Given the description of an element on the screen output the (x, y) to click on. 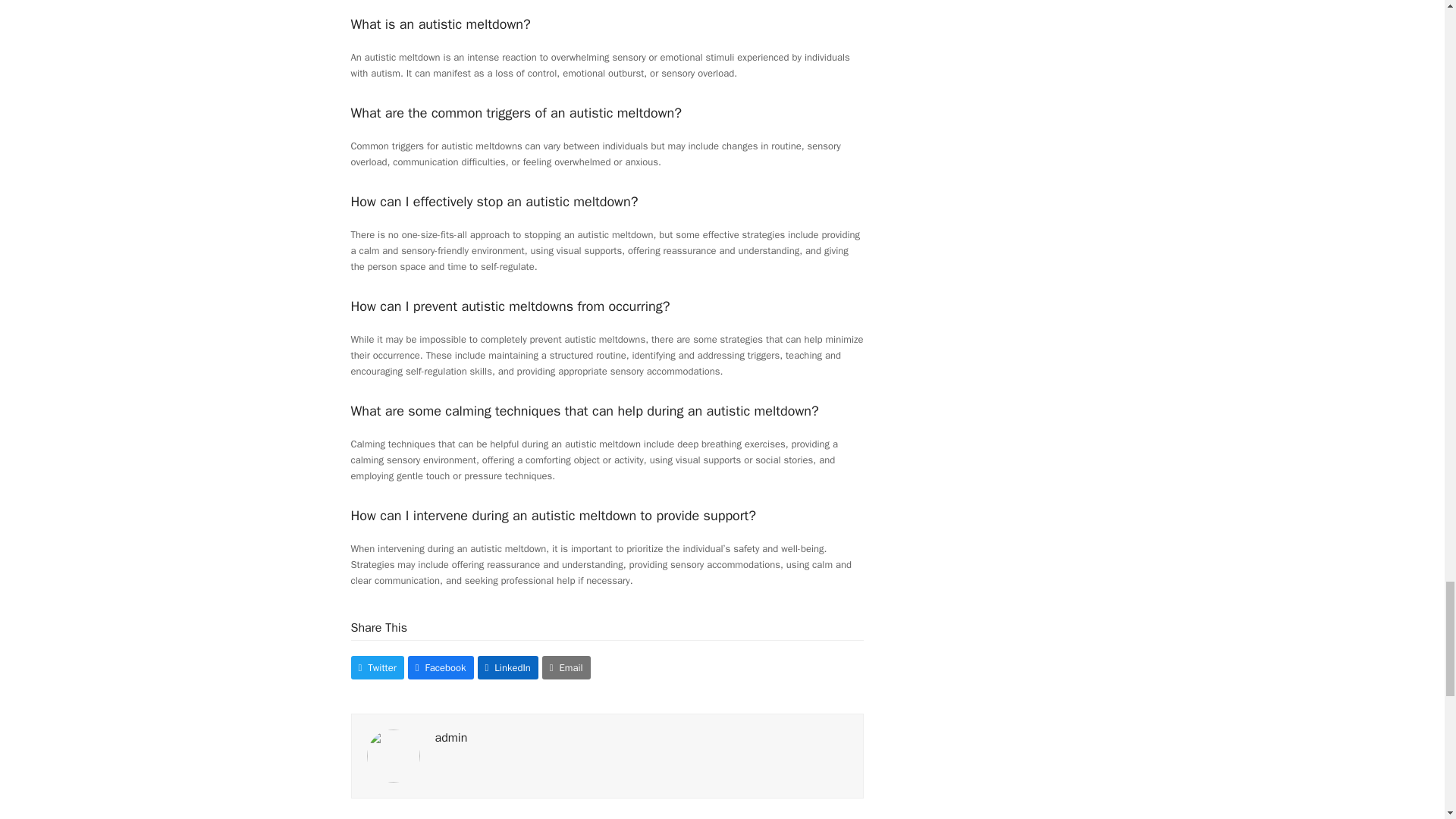
Email (566, 667)
admin (451, 737)
Facebook (440, 667)
Visit Author Page (393, 754)
LinkedIn (507, 667)
Twitter (376, 667)
Visit Author Page (451, 737)
